Given the description of an element on the screen output the (x, y) to click on. 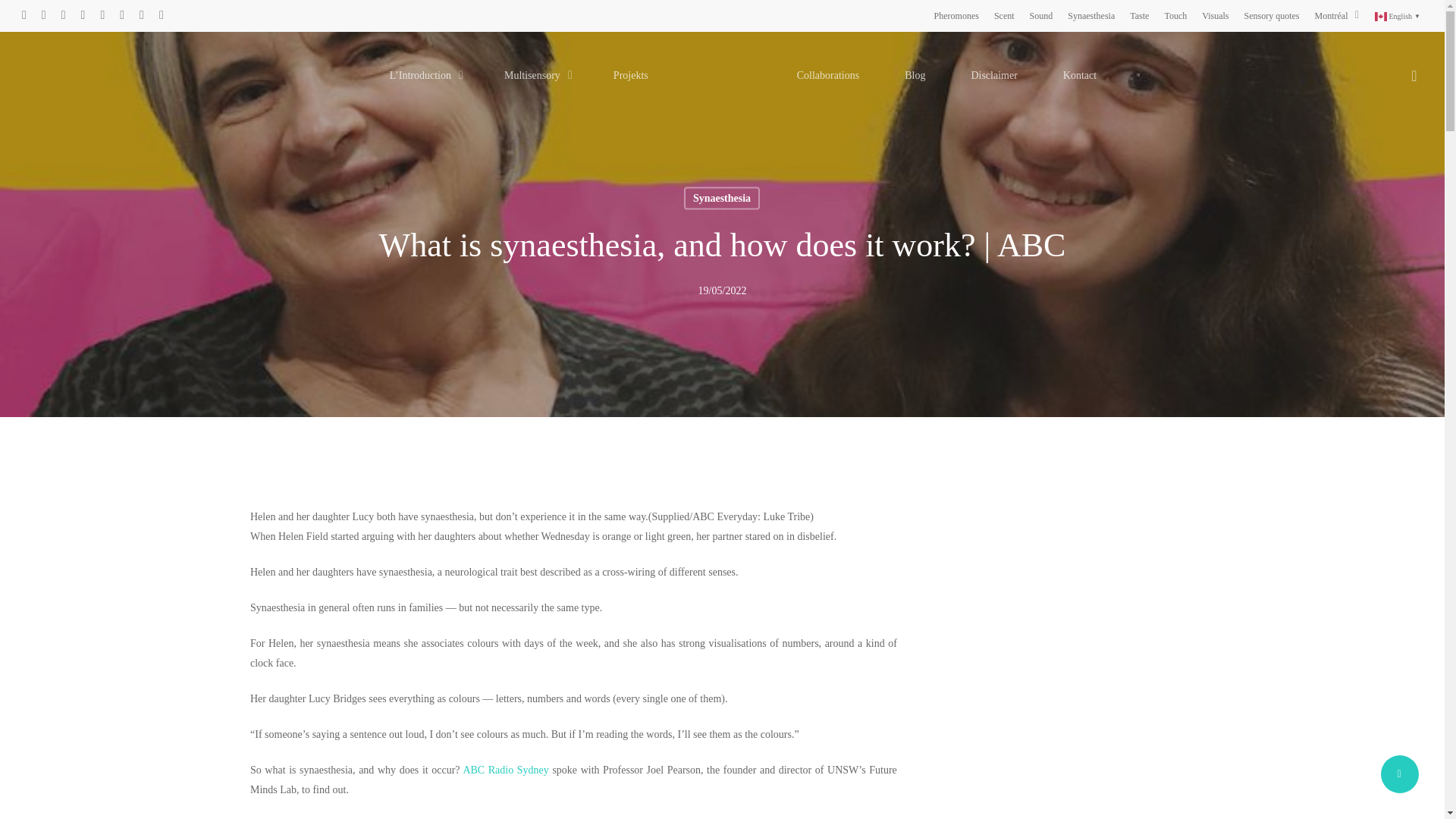
Synaesthesia (1091, 15)
Scent (1004, 15)
Sensory quotes (1272, 15)
Taste (1138, 15)
Pheromones (956, 15)
Sound (1040, 15)
Touch (1174, 15)
Visuals (1215, 15)
